Given the description of an element on the screen output the (x, y) to click on. 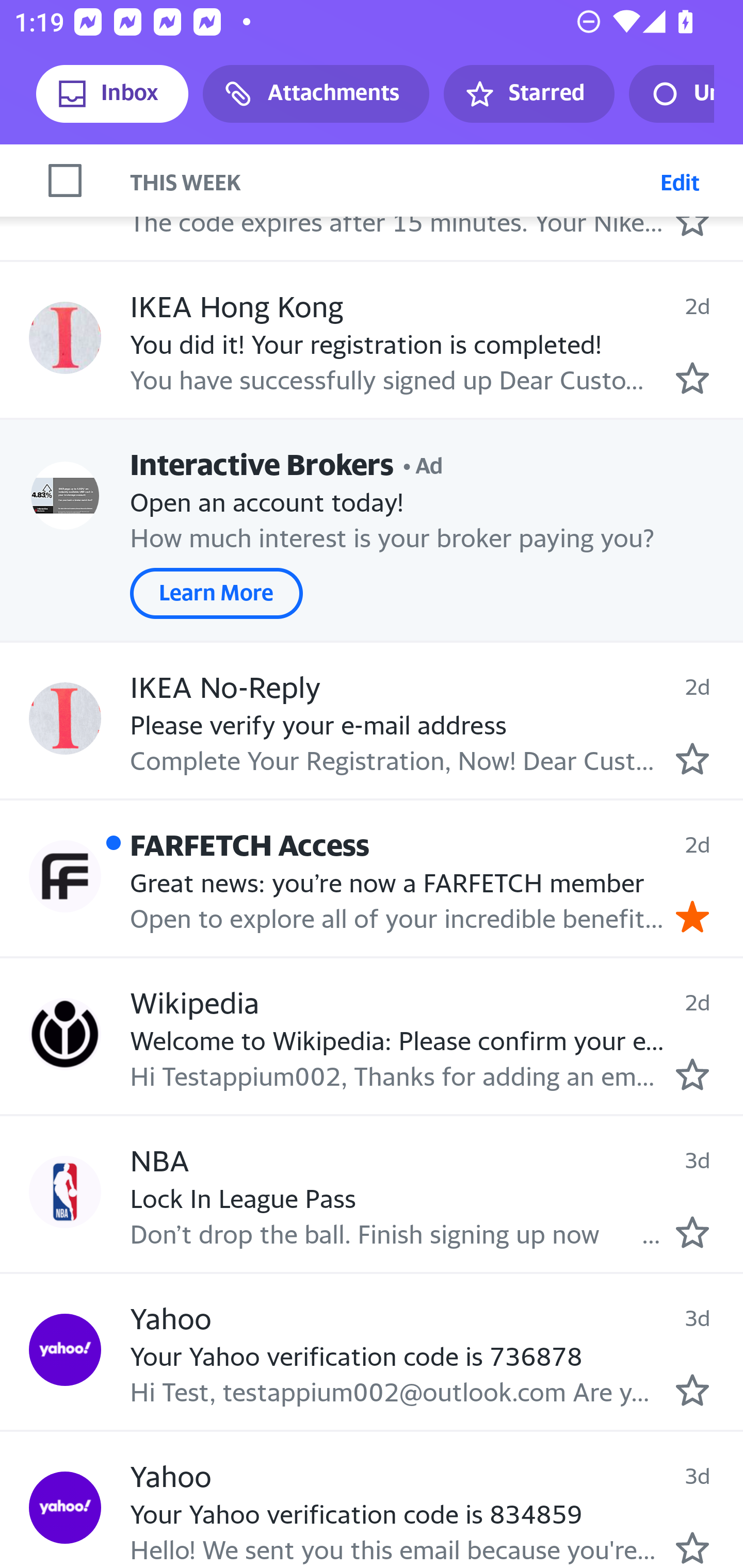
Attachments (315, 93)
Starred (528, 93)
Profile
Nike (64, 180)
Mark as starred. (692, 220)
Profile
IKEA Hong Kong (64, 337)
Mark as starred. (692, 378)
Profile
IKEA No-Reply (64, 718)
Mark as starred. (692, 758)
Profile
FARFETCH Access (64, 876)
Remove star. (692, 916)
Profile
Wikipedia (64, 1034)
Mark as starred. (692, 1074)
Profile
NBA (64, 1191)
Mark as starred. (692, 1231)
Profile
Yahoo (64, 1349)
Mark as starred. (692, 1390)
Profile
Yahoo (64, 1507)
Mark as starred. (692, 1548)
